Given the description of an element on the screen output the (x, y) to click on. 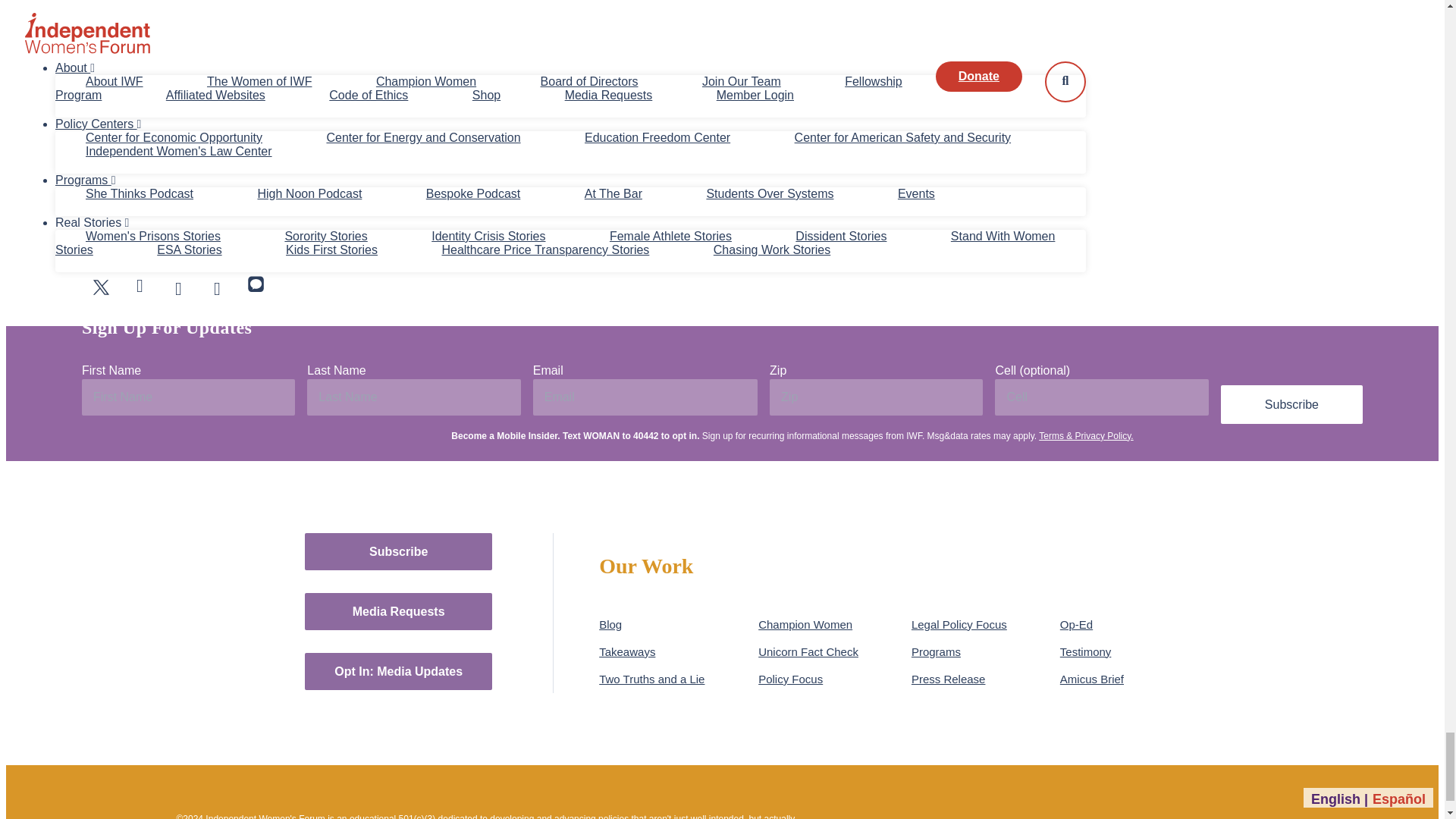
Subscribe (1291, 404)
